Given the description of an element on the screen output the (x, y) to click on. 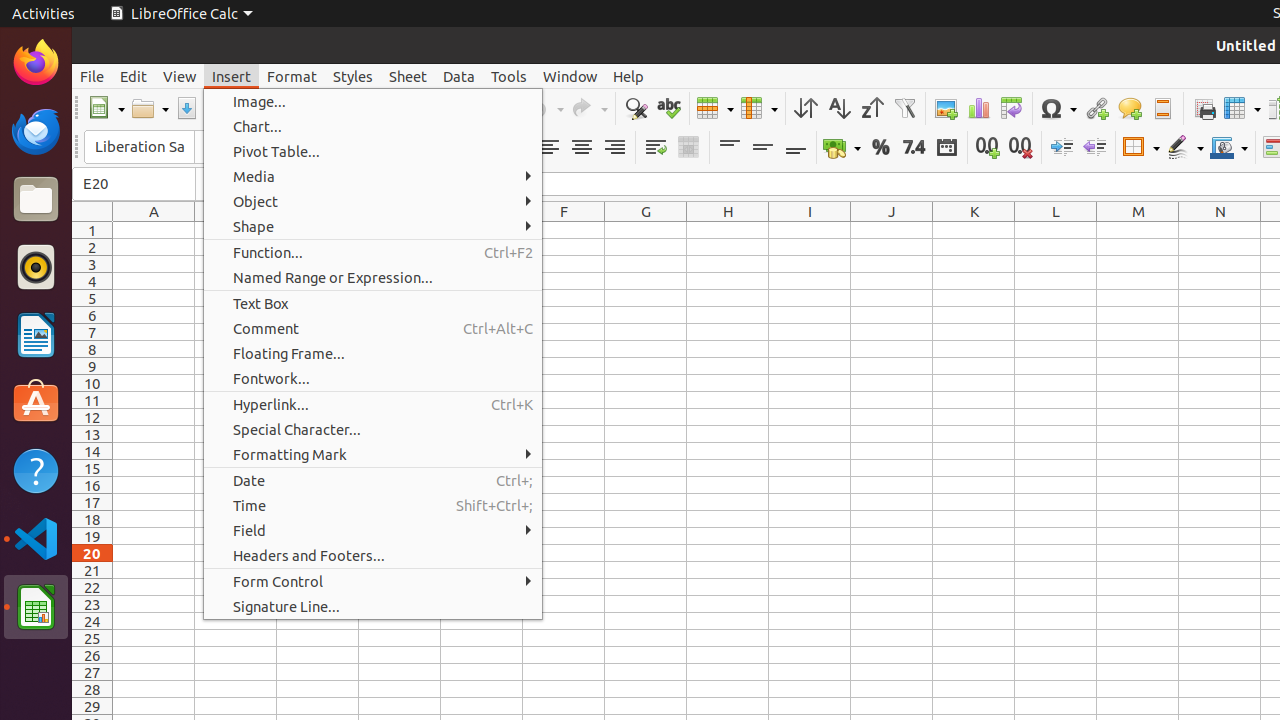
Help Element type: push-button (36, 470)
Headers and Footers... Element type: menu-item (373, 555)
Chart Element type: push-button (978, 108)
Fontwork... Element type: menu-item (373, 378)
Sheet Element type: menu (408, 76)
